Given the description of an element on the screen output the (x, y) to click on. 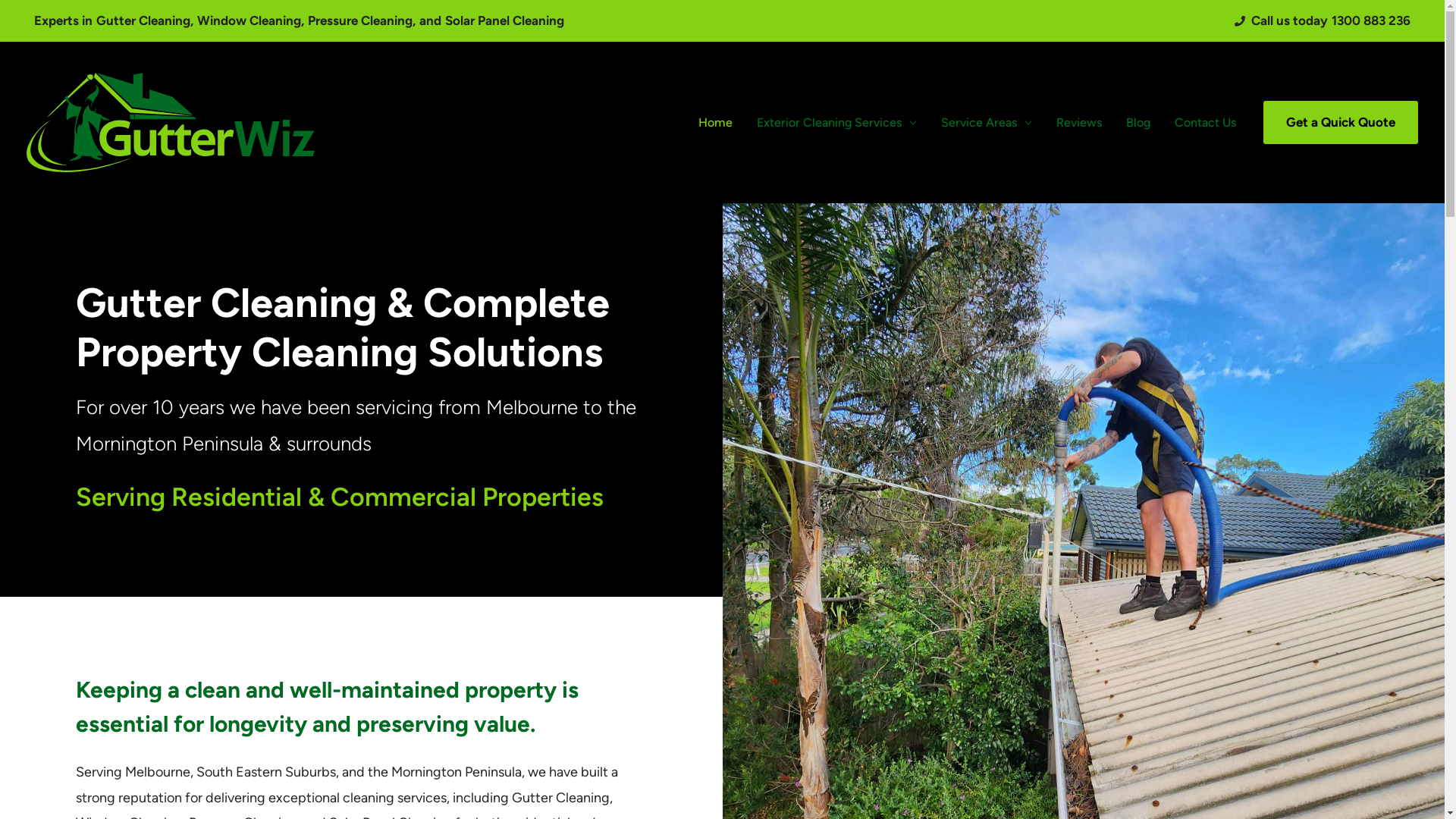
Gutter Cleaning, Element type: text (144, 21)
Blog Element type: text (1137, 121)
Window Cleaning, Element type: text (250, 21)
Service Areas Element type: text (986, 121)
Home Element type: text (715, 121)
Solar Panel Cleaning Element type: text (504, 21)
Get a Quick Quote Element type: text (1340, 122)
Reviews Element type: text (1078, 121)
Contact Us Element type: text (1205, 121)
Exterior Cleaning Services Element type: text (836, 121)
1300 883 236 Element type: text (1370, 21)
Pressure Cleaning, Element type: text (361, 21)
